Given the description of an element on the screen output the (x, y) to click on. 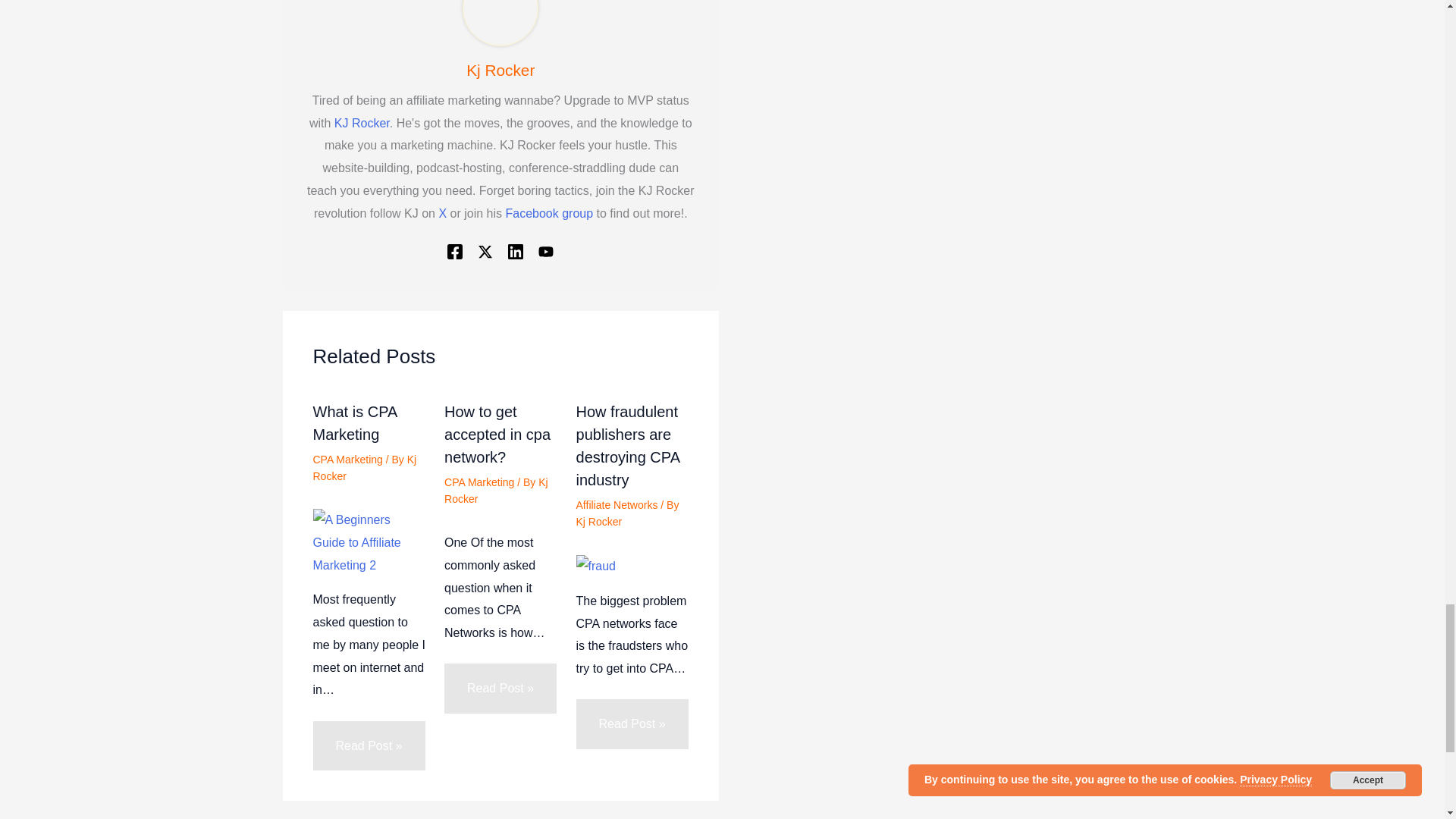
KJ Rocker (362, 123)
View all posts by Kj Rocker (364, 467)
View all posts by Kj Rocker (496, 490)
View all posts by Kj Rocker (599, 521)
Kj Rocker (499, 69)
